Given the description of an element on the screen output the (x, y) to click on. 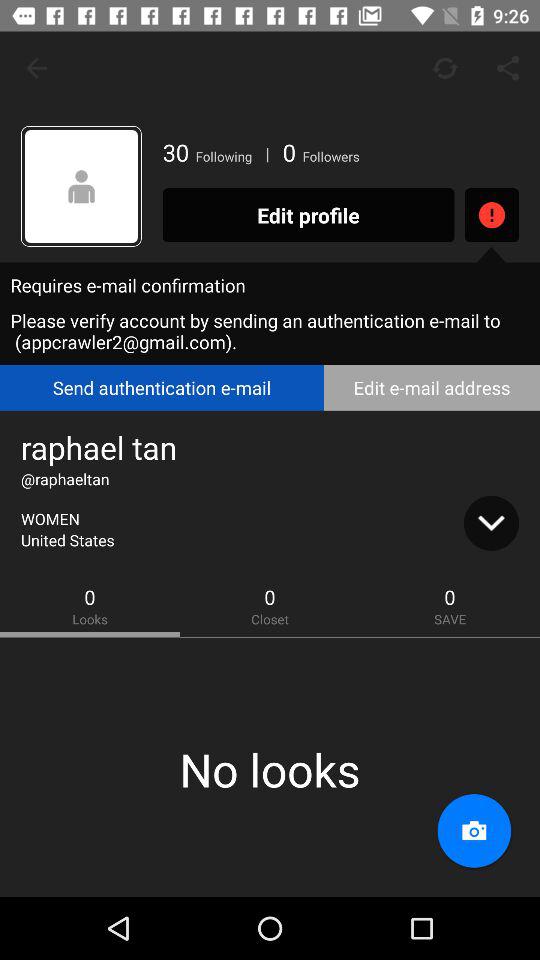
choose item next to united states icon (491, 523)
